Given the description of an element on the screen output the (x, y) to click on. 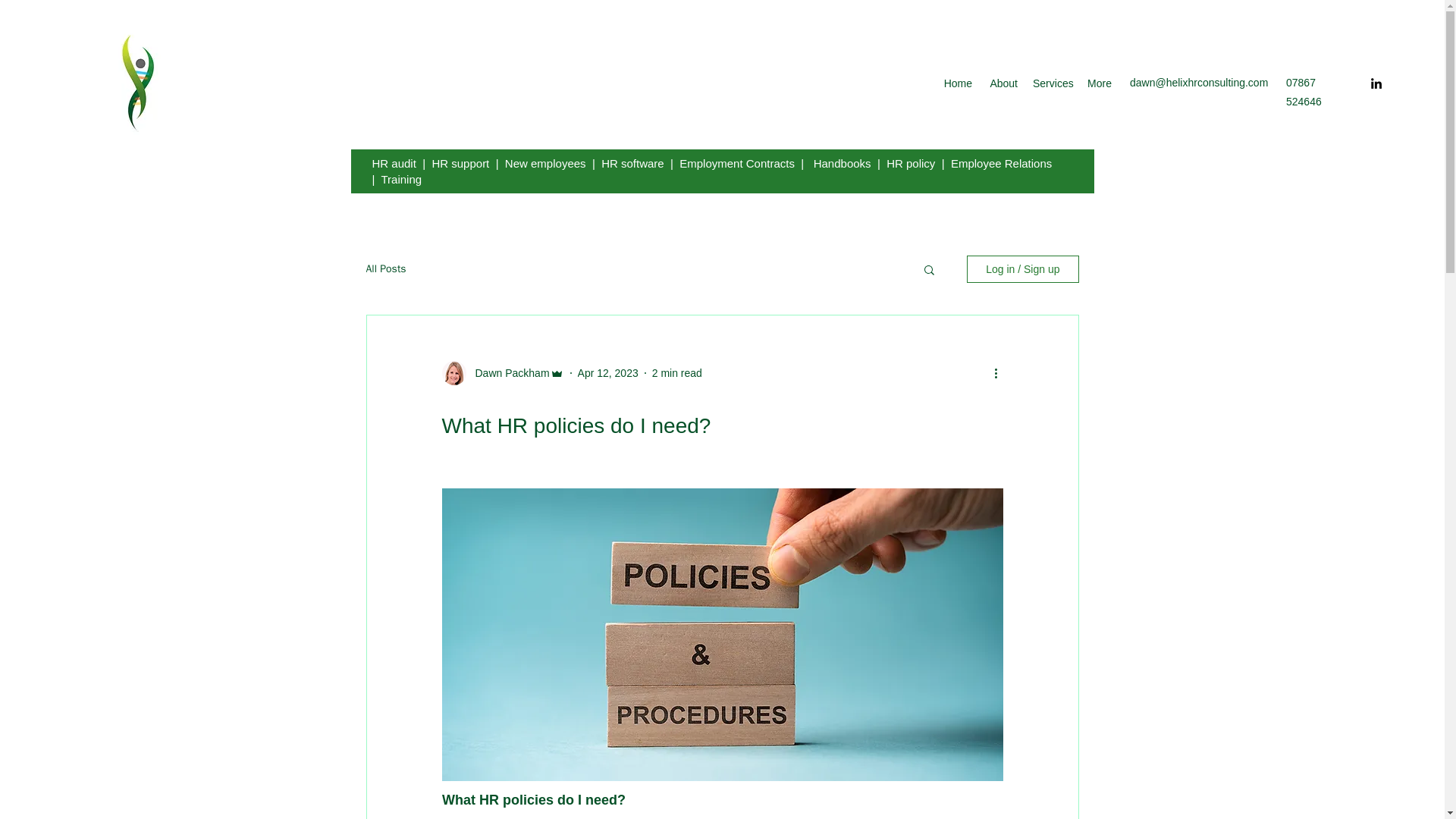
Apr 12, 2023 (608, 372)
Dawn Packham (506, 373)
2 min read (676, 372)
About (1002, 83)
Services (1051, 83)
Home (957, 83)
All Posts (385, 269)
